Given the description of an element on the screen output the (x, y) to click on. 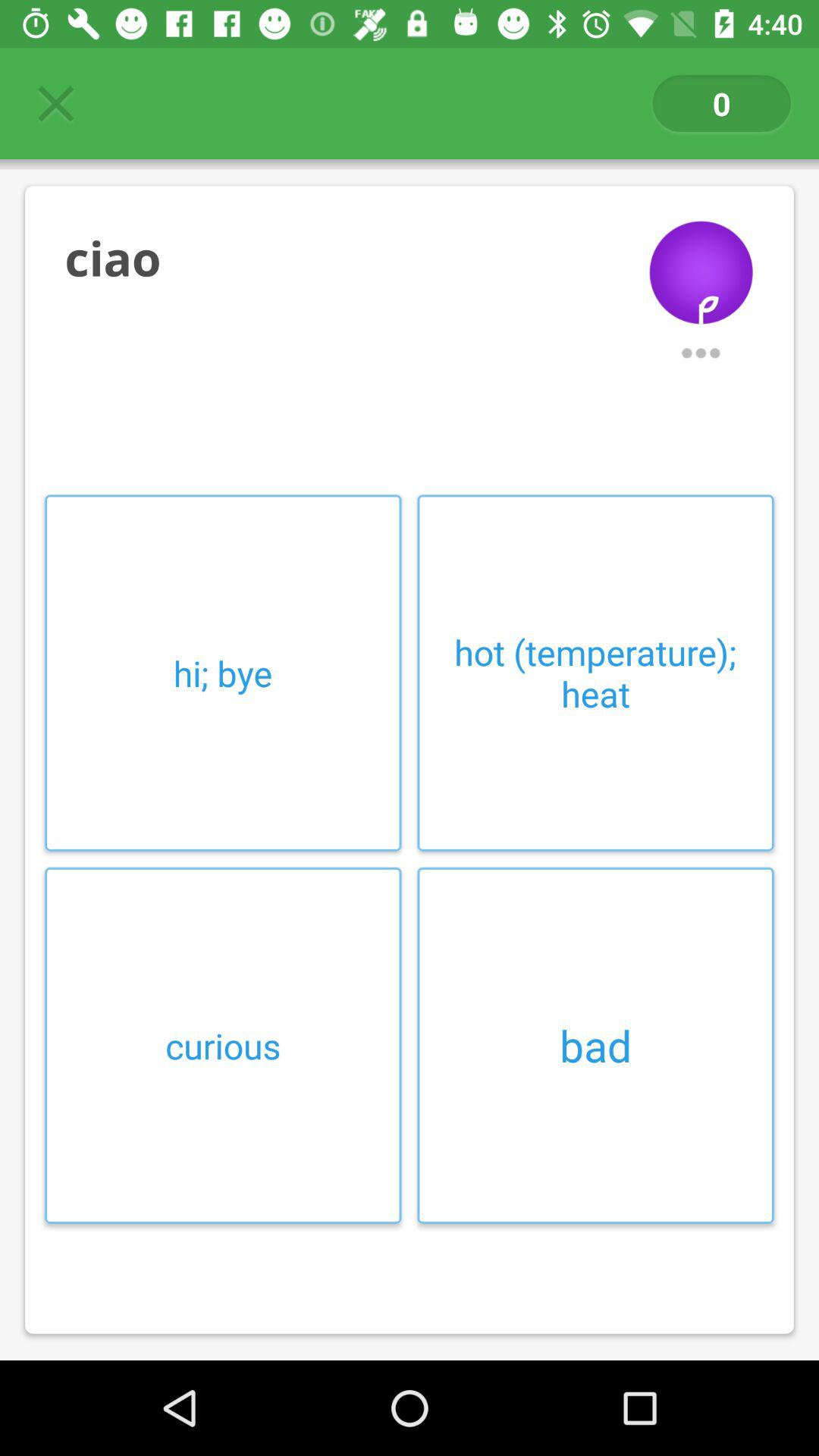
tap item above the curious icon (222, 672)
